Given the description of an element on the screen output the (x, y) to click on. 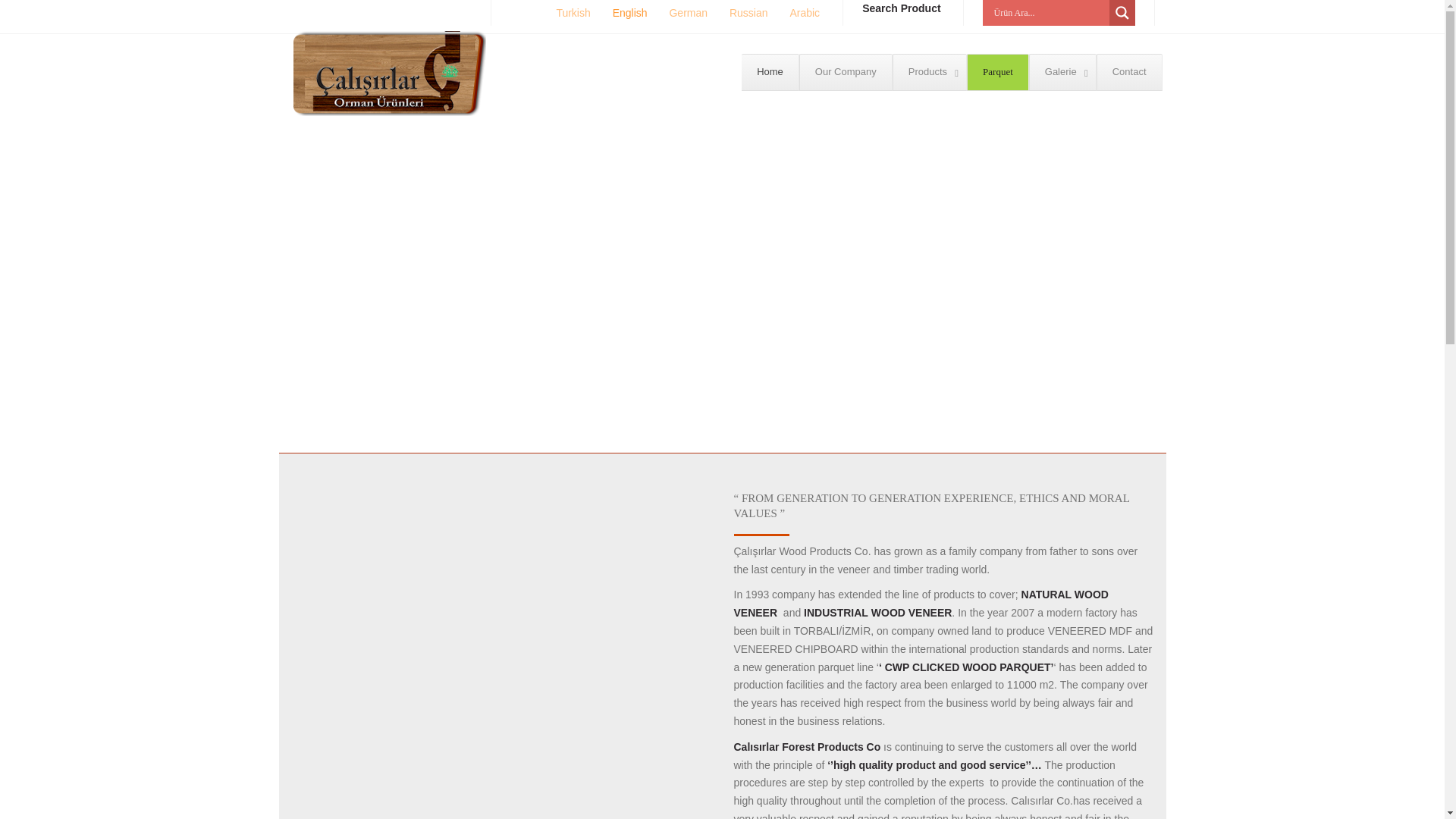
Products (929, 72)
Search input (1048, 12)
Russian (741, 12)
Galerie (1062, 72)
Ajax serch form (1048, 12)
Parquet (997, 72)
Turkish (951, 72)
Our Company (564, 12)
German (845, 72)
